Given the description of an element on the screen output the (x, y) to click on. 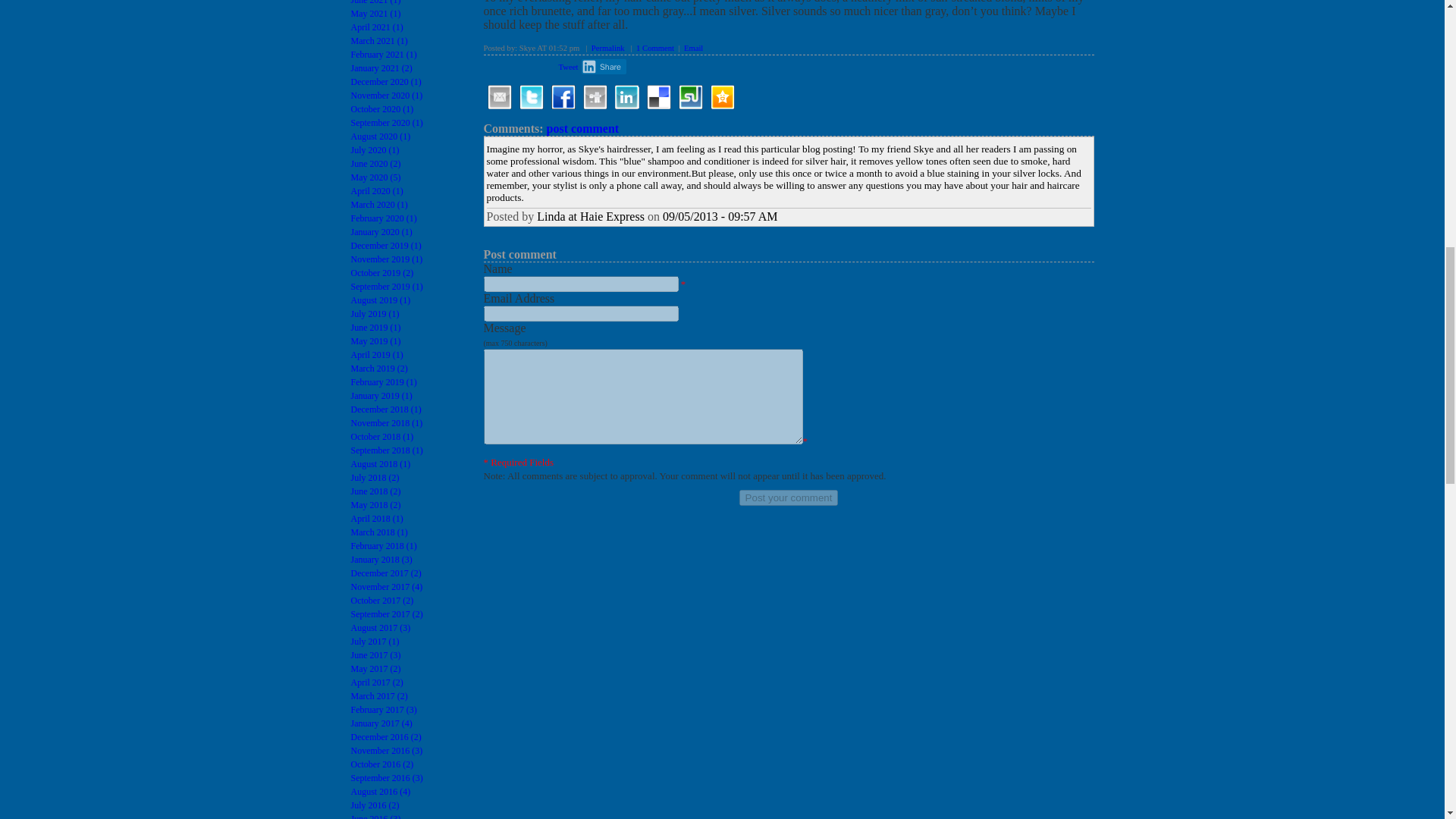
Digg (594, 96)
Facebook (562, 96)
LinkedIn (626, 96)
Add to favorites (721, 96)
Email (498, 96)
Twitter (530, 96)
Post your comment (788, 497)
Delicious (657, 96)
StumbleUpon (689, 96)
